Given the description of an element on the screen output the (x, y) to click on. 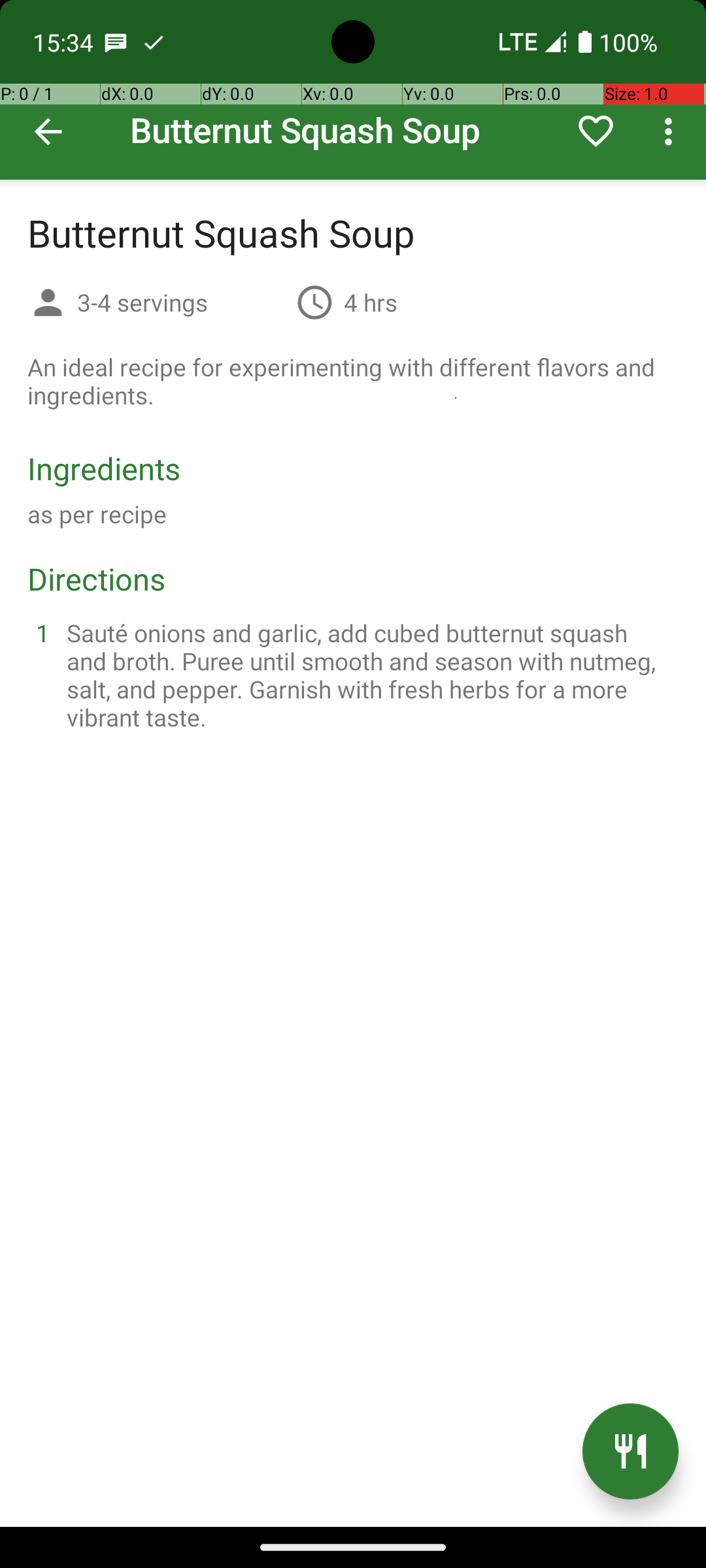
Sauté onions and garlic, add cubed butternut squash and broth. Puree until smooth and season with nutmeg, salt, and pepper. Garnish with fresh herbs for a more vibrant taste. Element type: android.widget.TextView (368, 674)
